Given the description of an element on the screen output the (x, y) to click on. 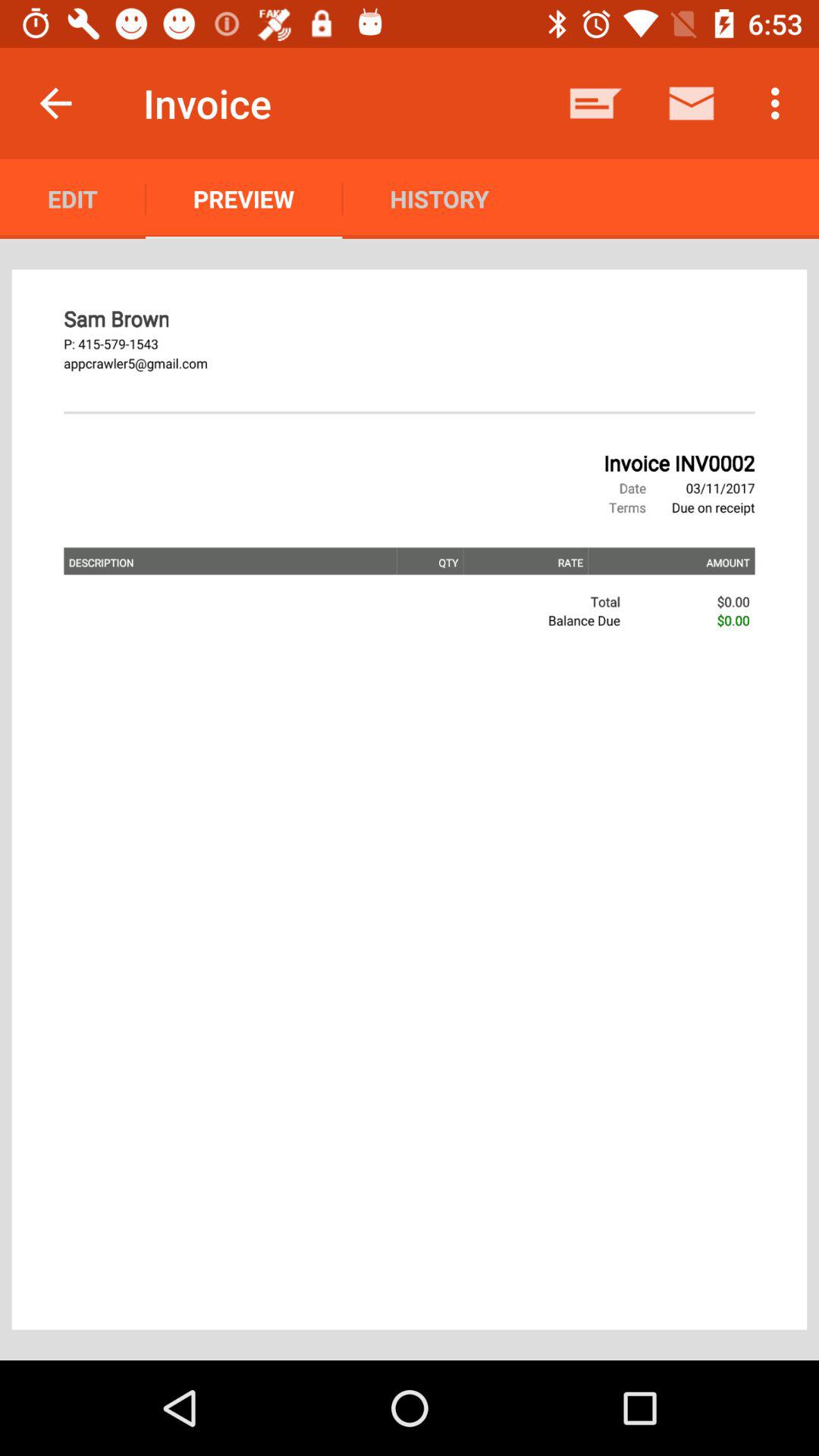
scroll until the history icon (439, 198)
